Given the description of an element on the screen output the (x, y) to click on. 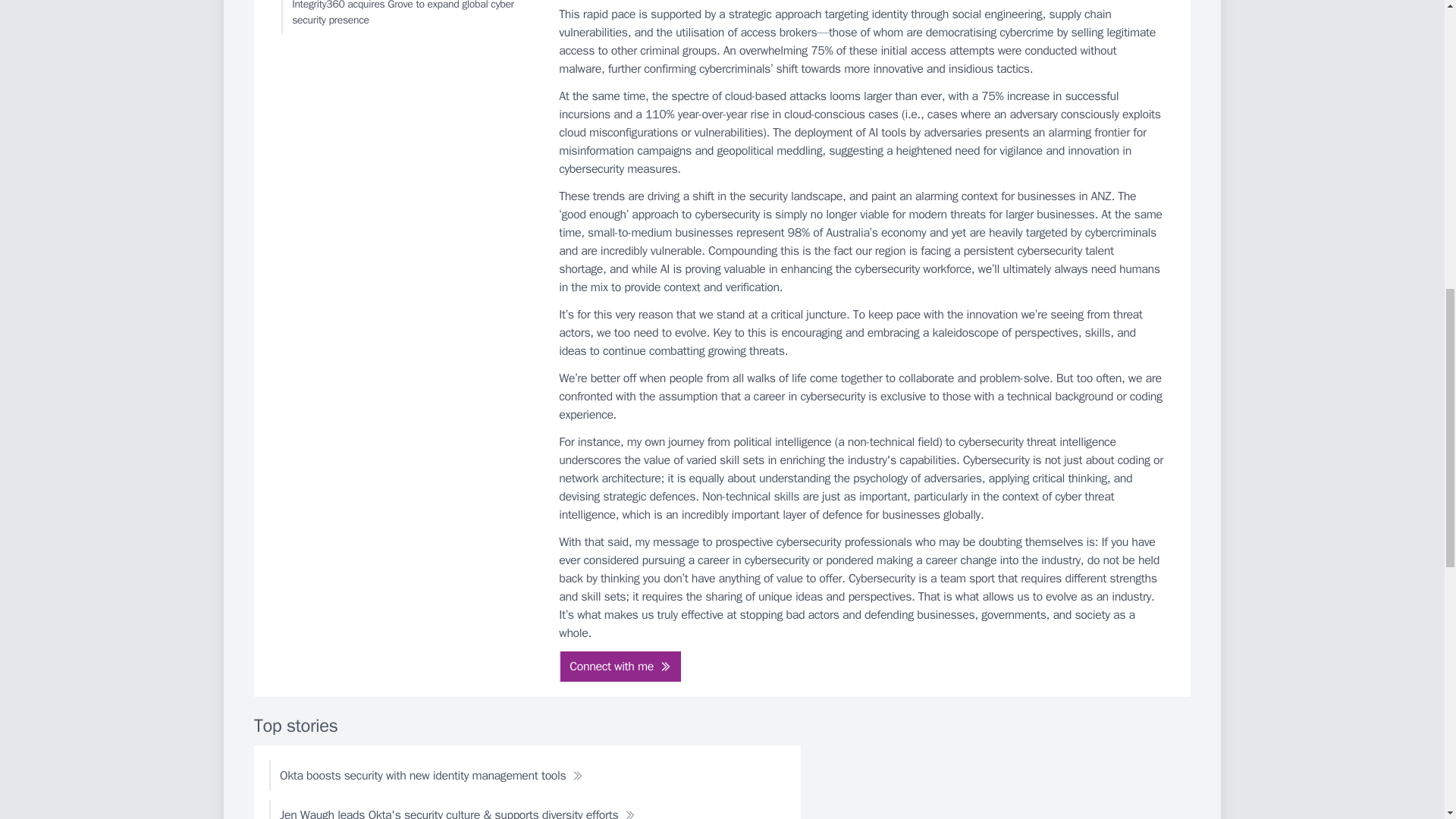
Connect with me (620, 666)
Okta boosts security with new identity management tools (430, 775)
